Given the description of an element on the screen output the (x, y) to click on. 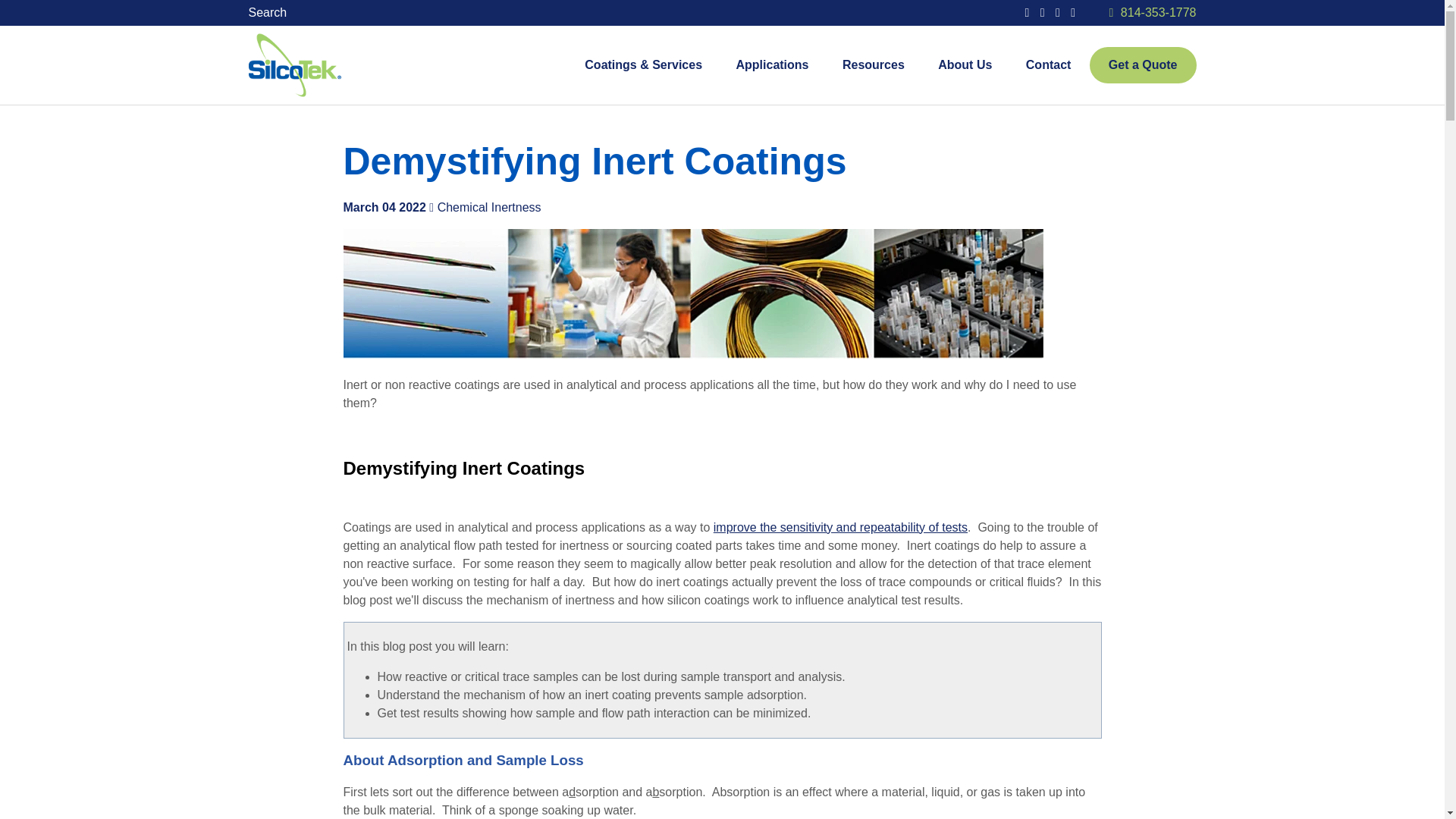
Applications (771, 65)
814-353-1778 (1158, 11)
Resources (873, 65)
Search (271, 11)
